Given the description of an element on the screen output the (x, y) to click on. 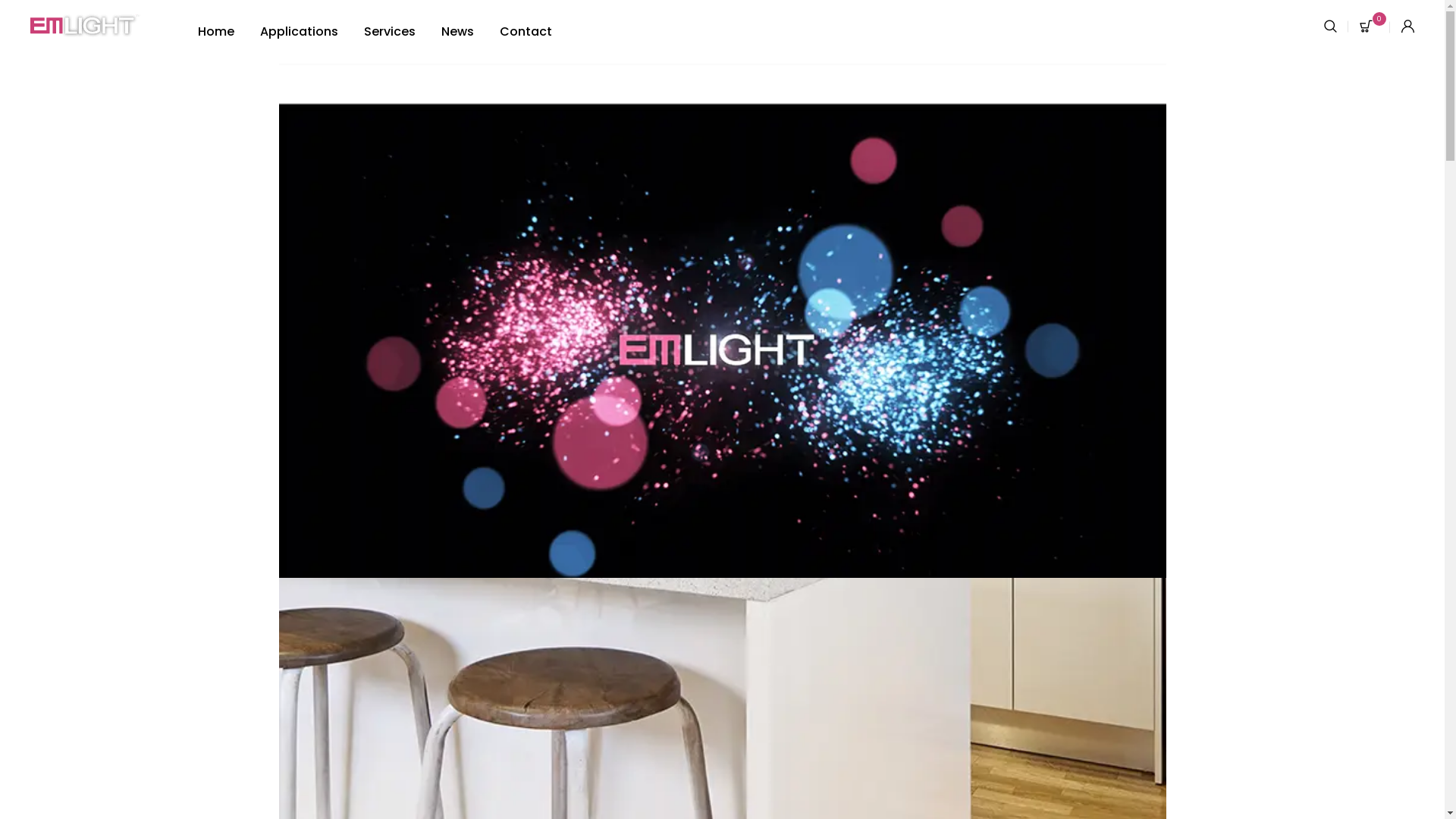
Services Element type: text (389, 31)
Contact Element type: text (525, 31)
0 Element type: text (1374, 26)
My Account Element type: hover (1407, 26)
Applications Element type: text (299, 31)
Home Element type: text (215, 31)
News Element type: text (457, 31)
